Given the description of an element on the screen output the (x, y) to click on. 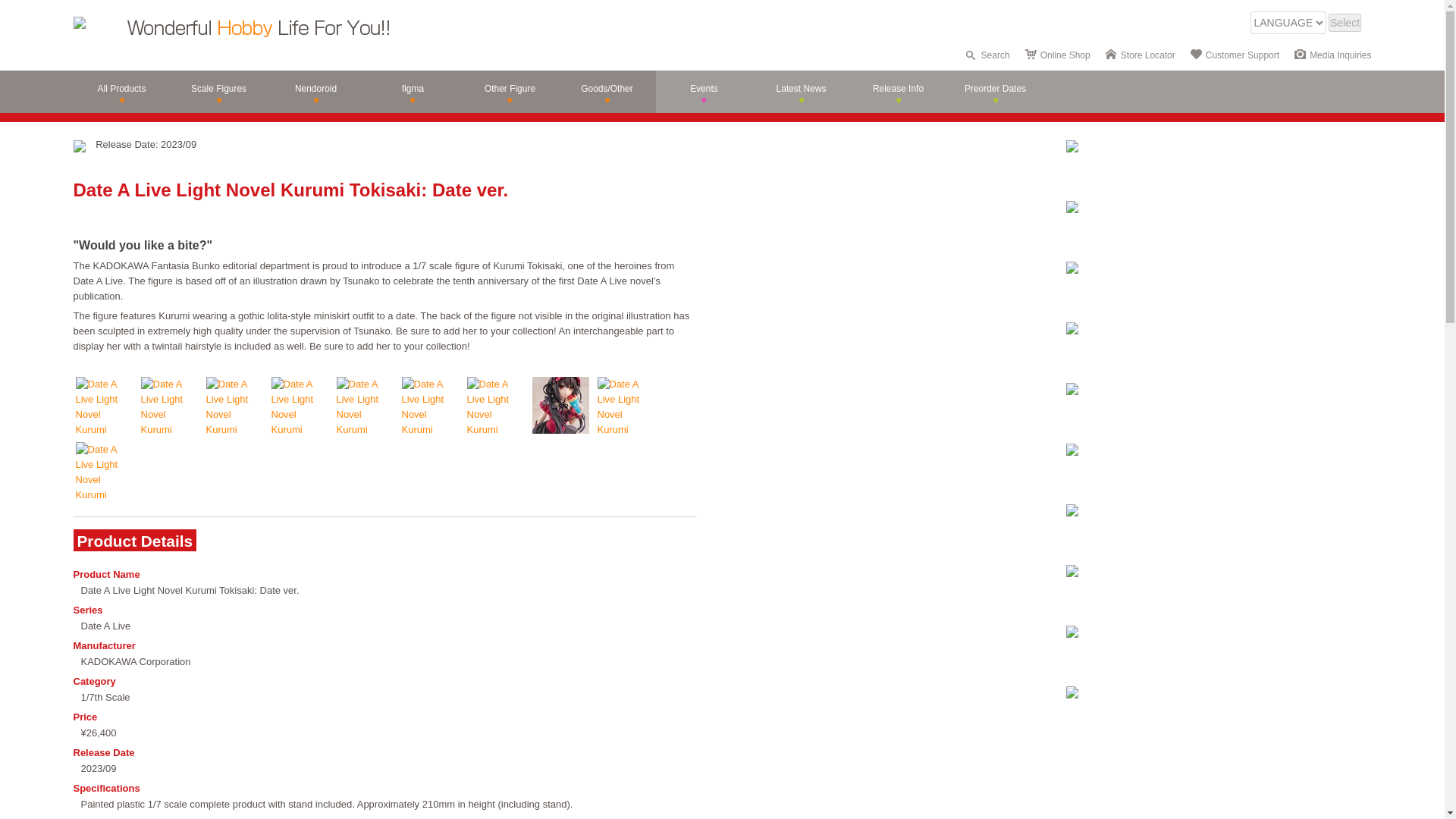
Release Info (897, 91)
Other Figure (509, 91)
Media Inquiries (1339, 54)
Latest News (800, 91)
figma (412, 91)
Online Shop (1065, 54)
All Products (121, 91)
Search (995, 54)
Customer Support (1242, 54)
Events (703, 91)
